Given the description of an element on the screen output the (x, y) to click on. 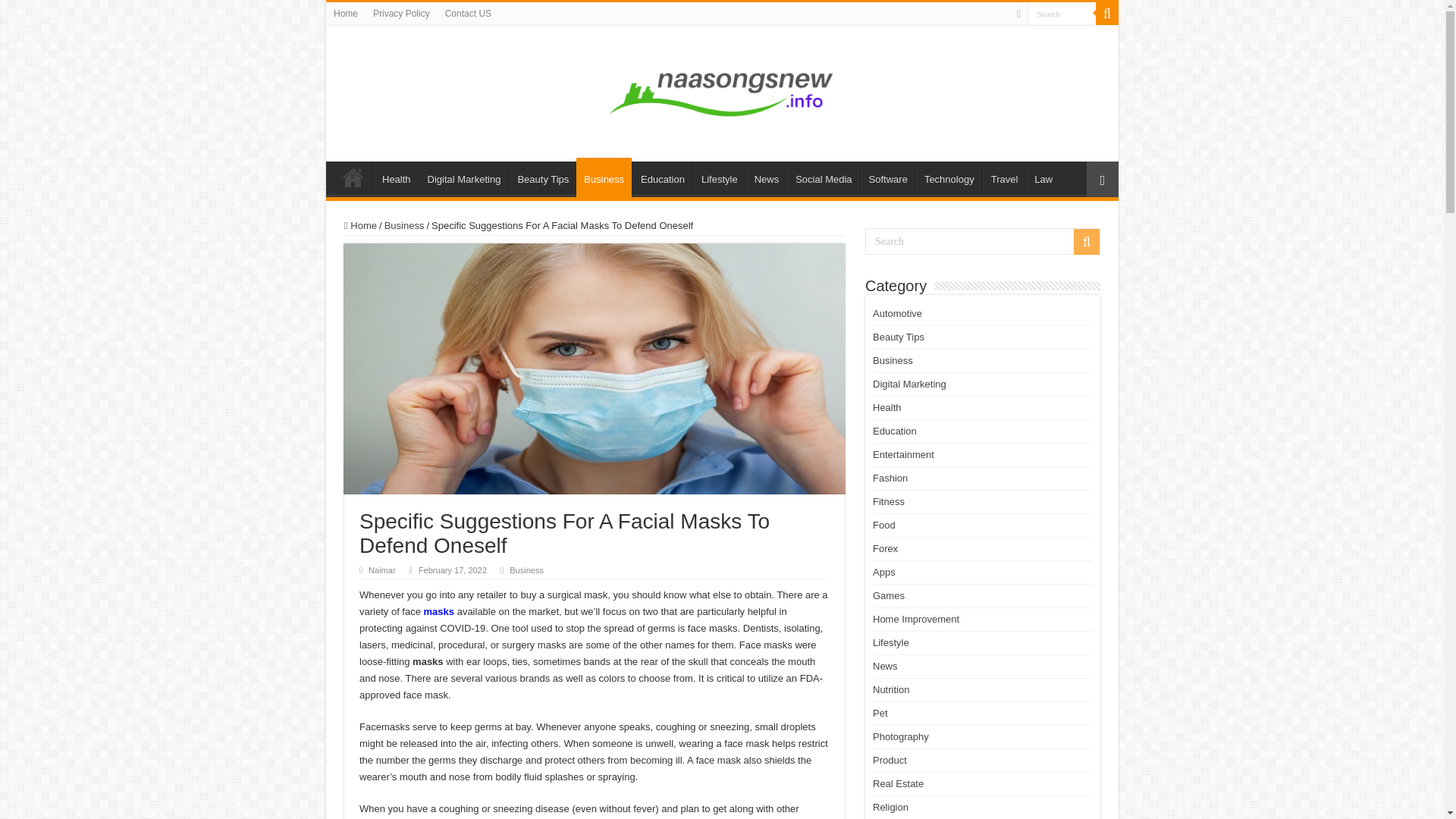
Contact US (468, 13)
Health (396, 177)
Search (1107, 13)
Home (352, 177)
Beauty Tips (542, 177)
Naa Songs (721, 90)
Naimar (382, 569)
Privacy Policy (401, 13)
Search (1061, 13)
Social Media (823, 177)
